Given the description of an element on the screen output the (x, y) to click on. 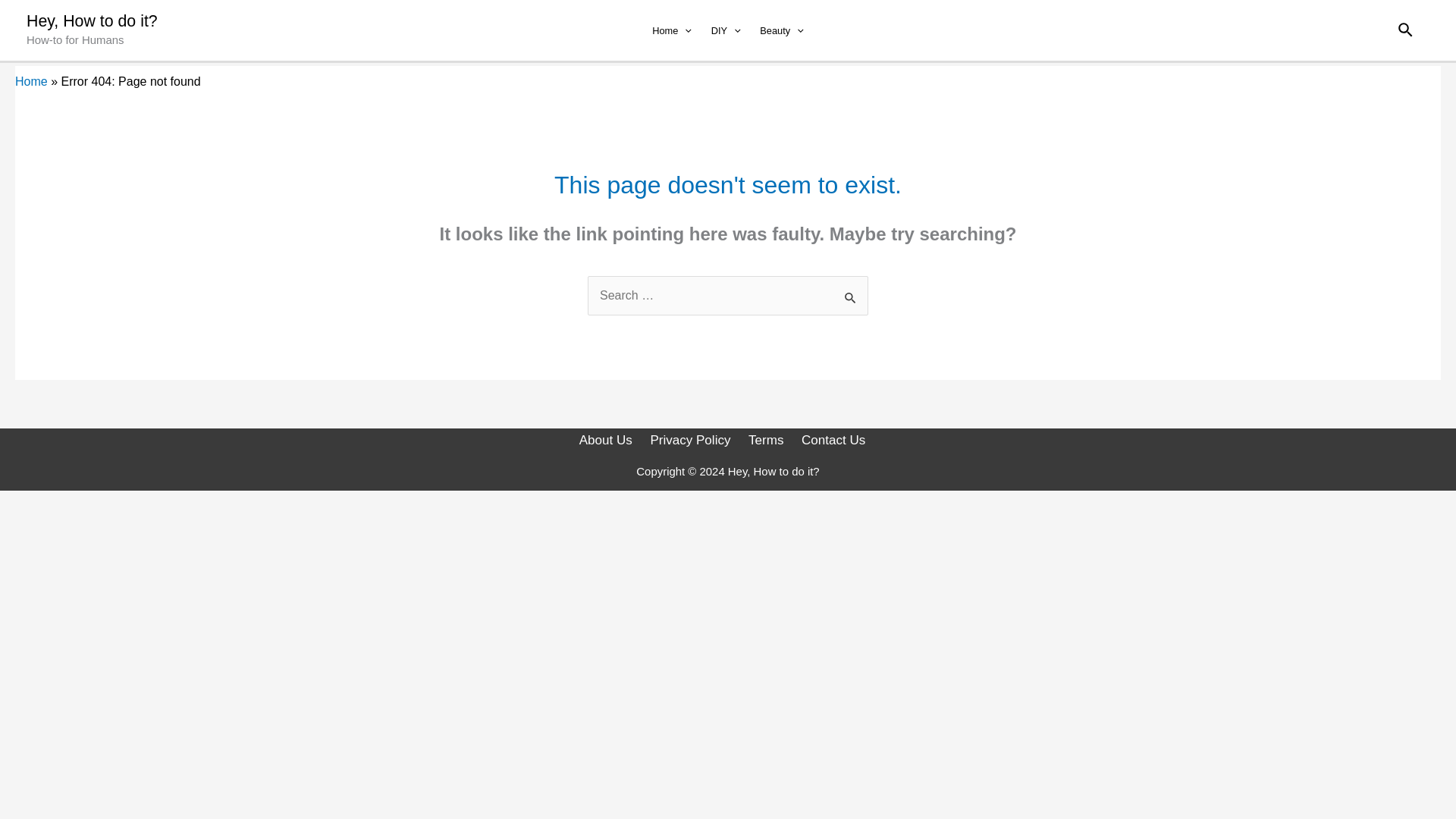
Terms (767, 440)
Privacy Policy (692, 440)
Hey, How to do it? (91, 21)
Home (671, 30)
About Us (611, 440)
Contact Us (835, 440)
Home (31, 81)
DIY (726, 30)
Beauty (780, 30)
